Given the description of an element on the screen output the (x, y) to click on. 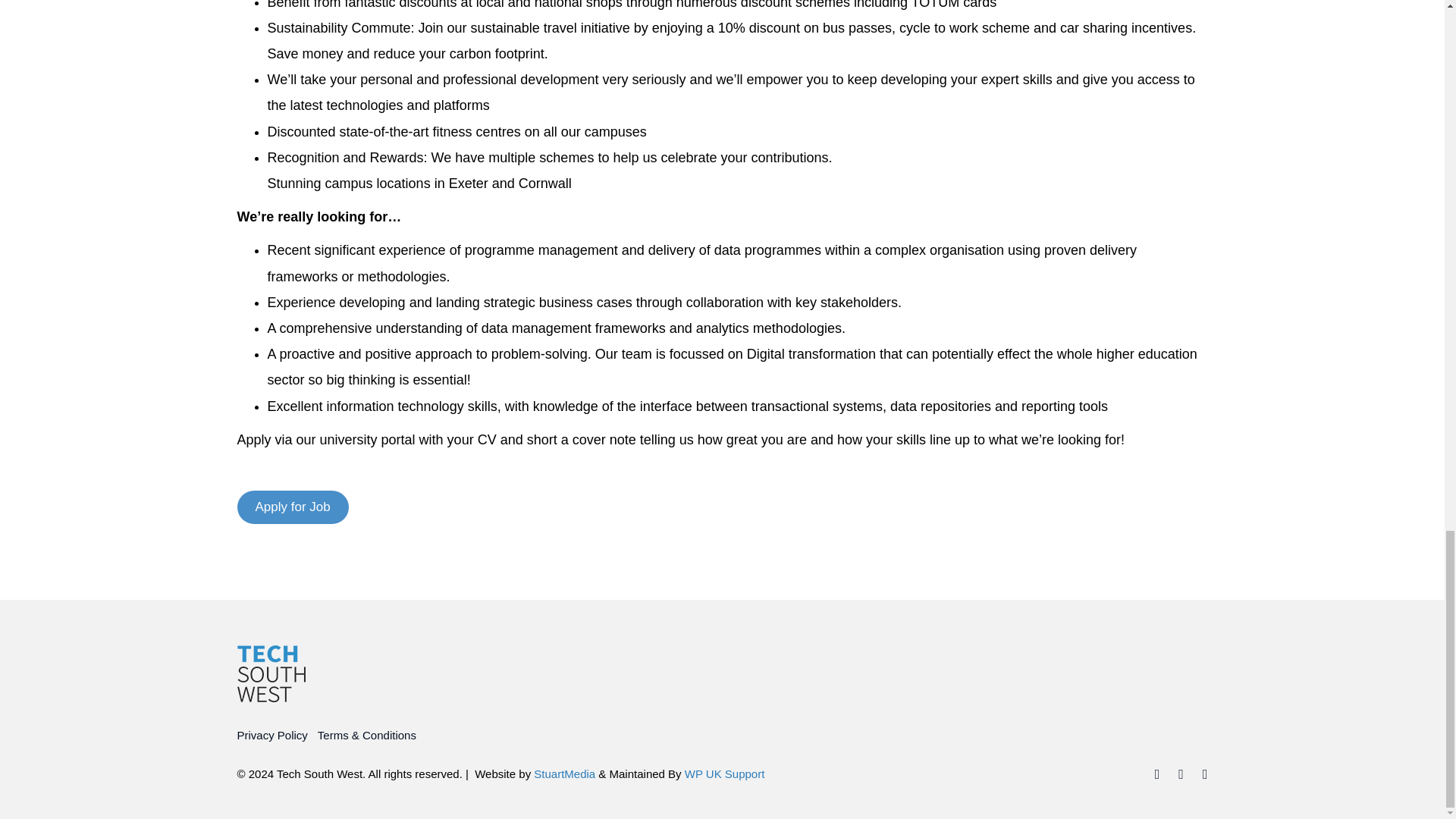
logo-dark-s (269, 673)
Professional UK WordPress Support based in Exeter, Devon. (724, 773)
